Given the description of an element on the screen output the (x, y) to click on. 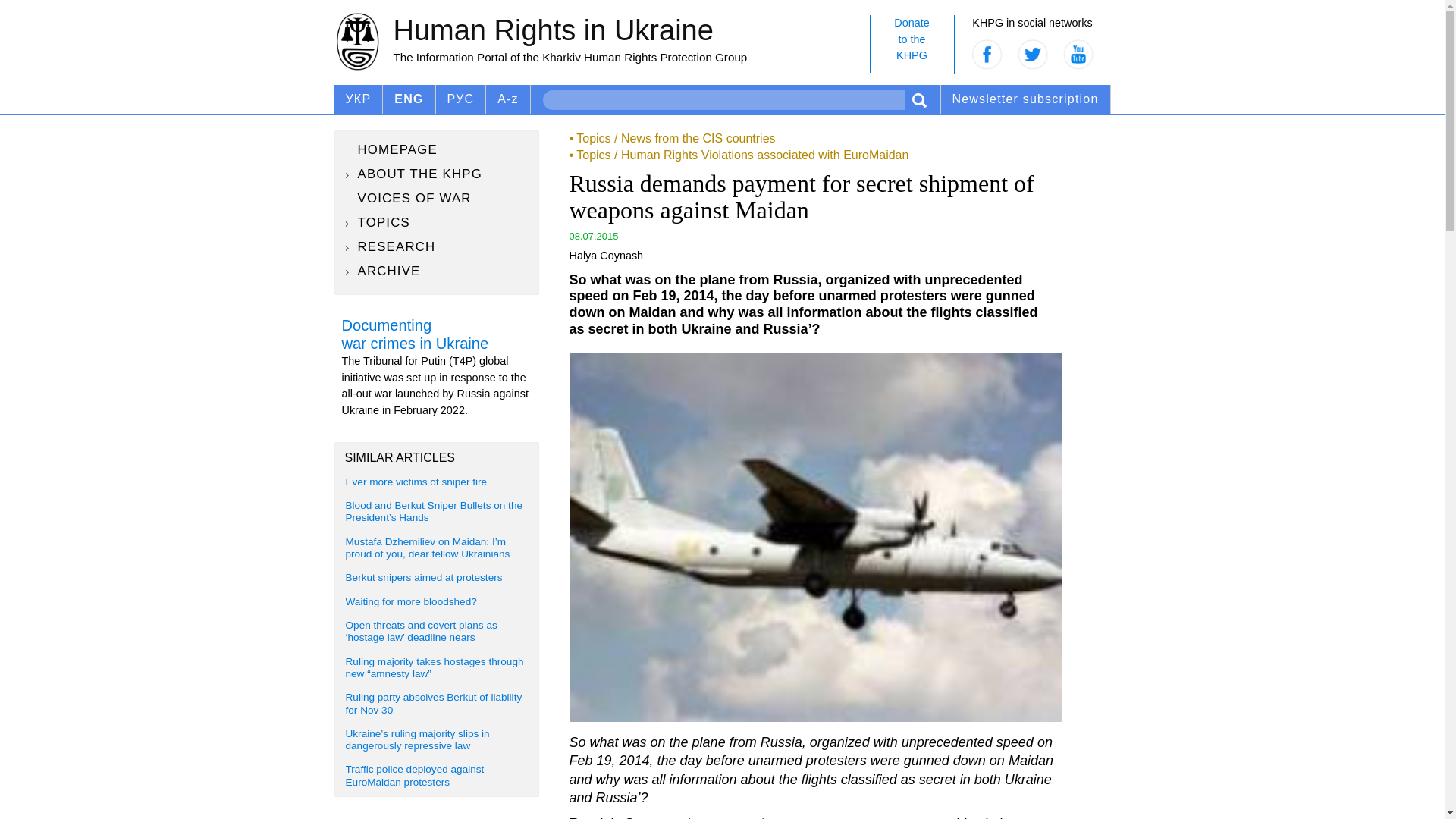
Newsletter subscription (911, 43)
VOICES OF WAR (1024, 99)
TOPICS (437, 198)
A-z (437, 222)
HOMEPAGE (507, 99)
ABOUT THE KHPG (437, 149)
